Given the description of an element on the screen output the (x, y) to click on. 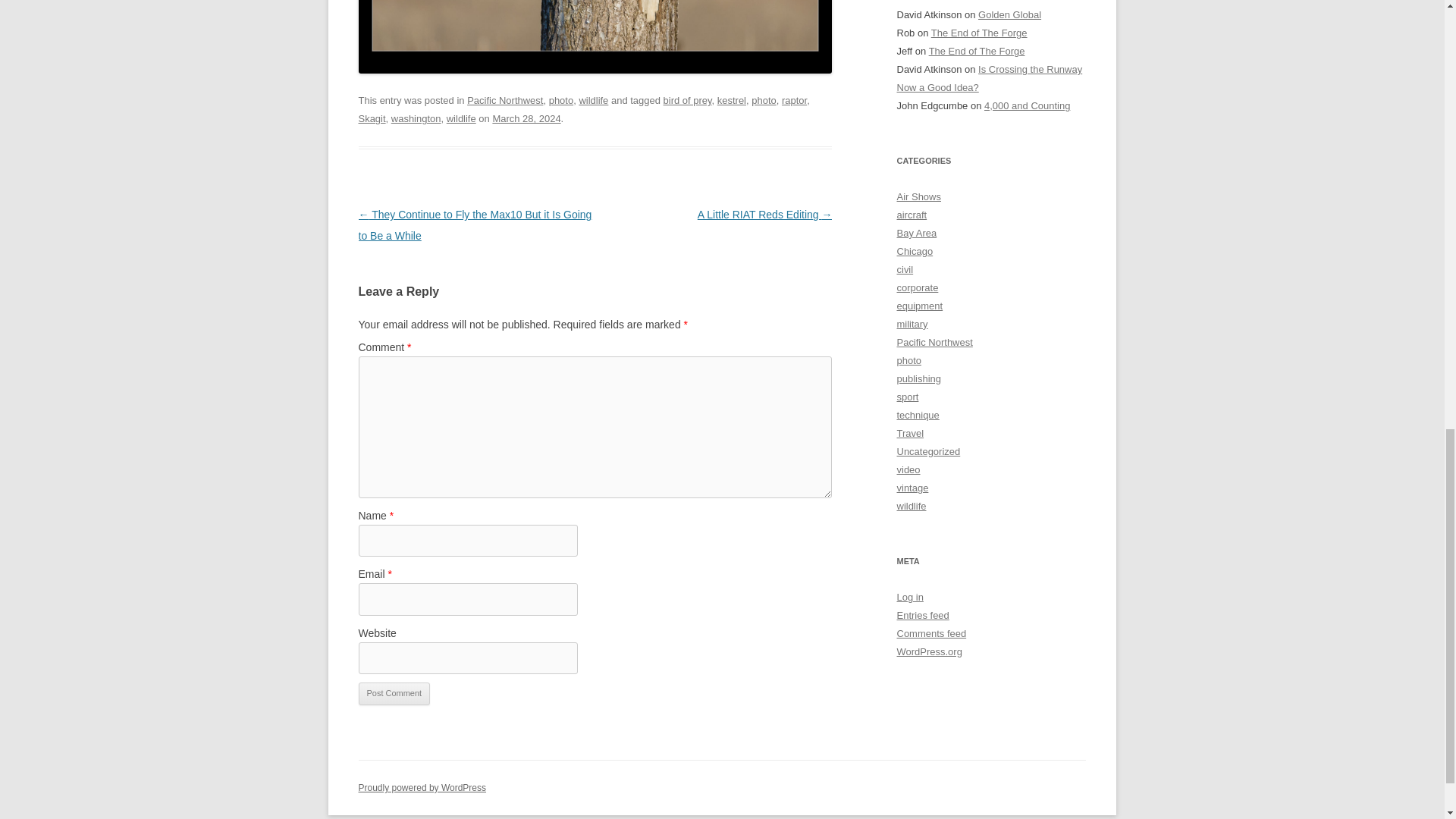
Post Comment (393, 693)
wildlife (461, 118)
wildlife (593, 100)
March 28, 2024 (526, 118)
Skagit (371, 118)
raptor (793, 100)
Post Comment (393, 693)
Semantic Personal Publishing Platform (422, 787)
washington (416, 118)
photo (763, 100)
bird of prey (687, 100)
kestrel (731, 100)
photo (560, 100)
Pacific Northwest (505, 100)
5:00 am (526, 118)
